Given the description of an element on the screen output the (x, y) to click on. 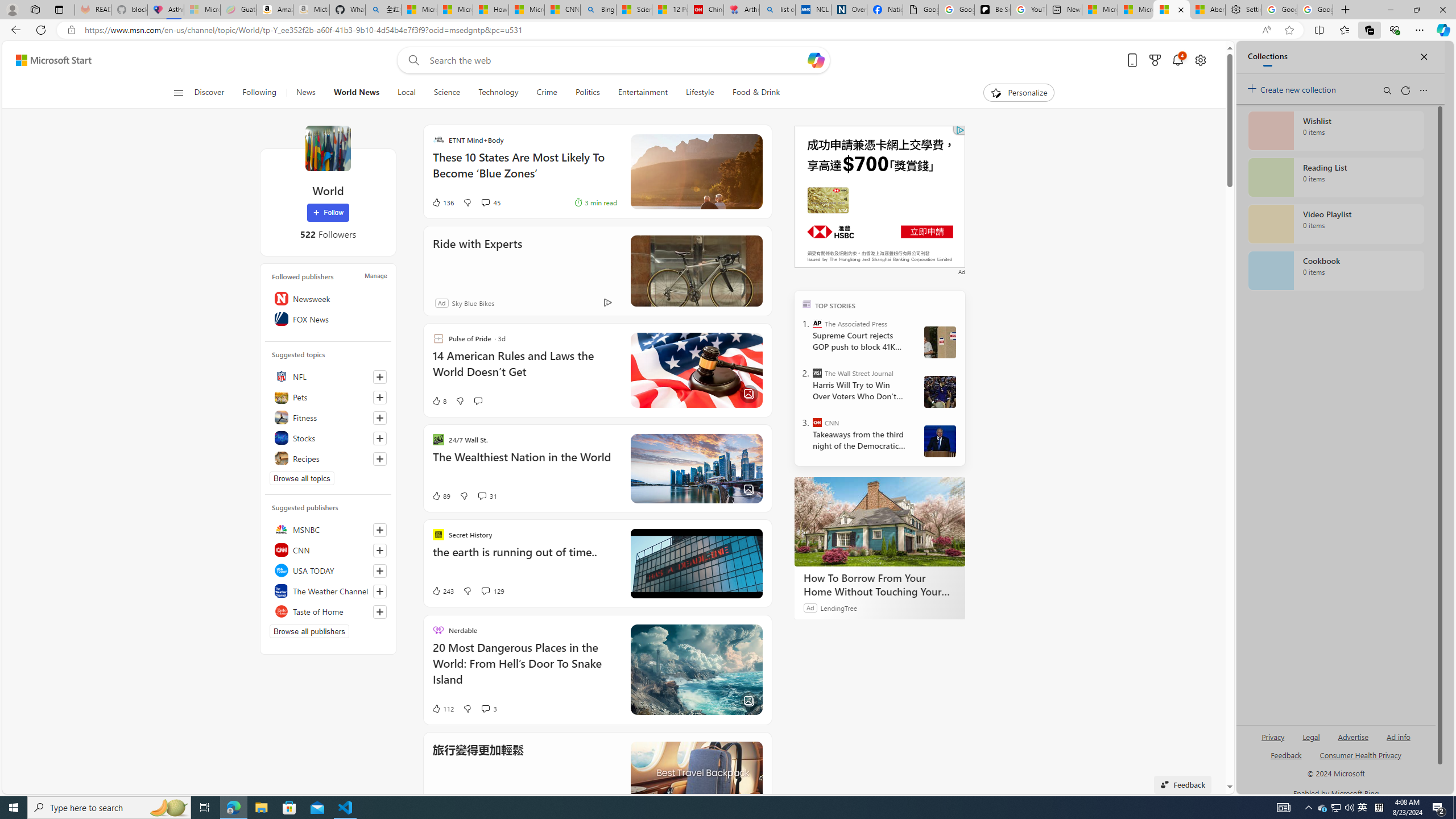
View comments 45 Comment (490, 202)
Ride with ExpertsAdSky Blue Bikes (596, 271)
The Weather Channel (327, 590)
Follow this topic (379, 458)
Bing (598, 9)
